Given the description of an element on the screen output the (x, y) to click on. 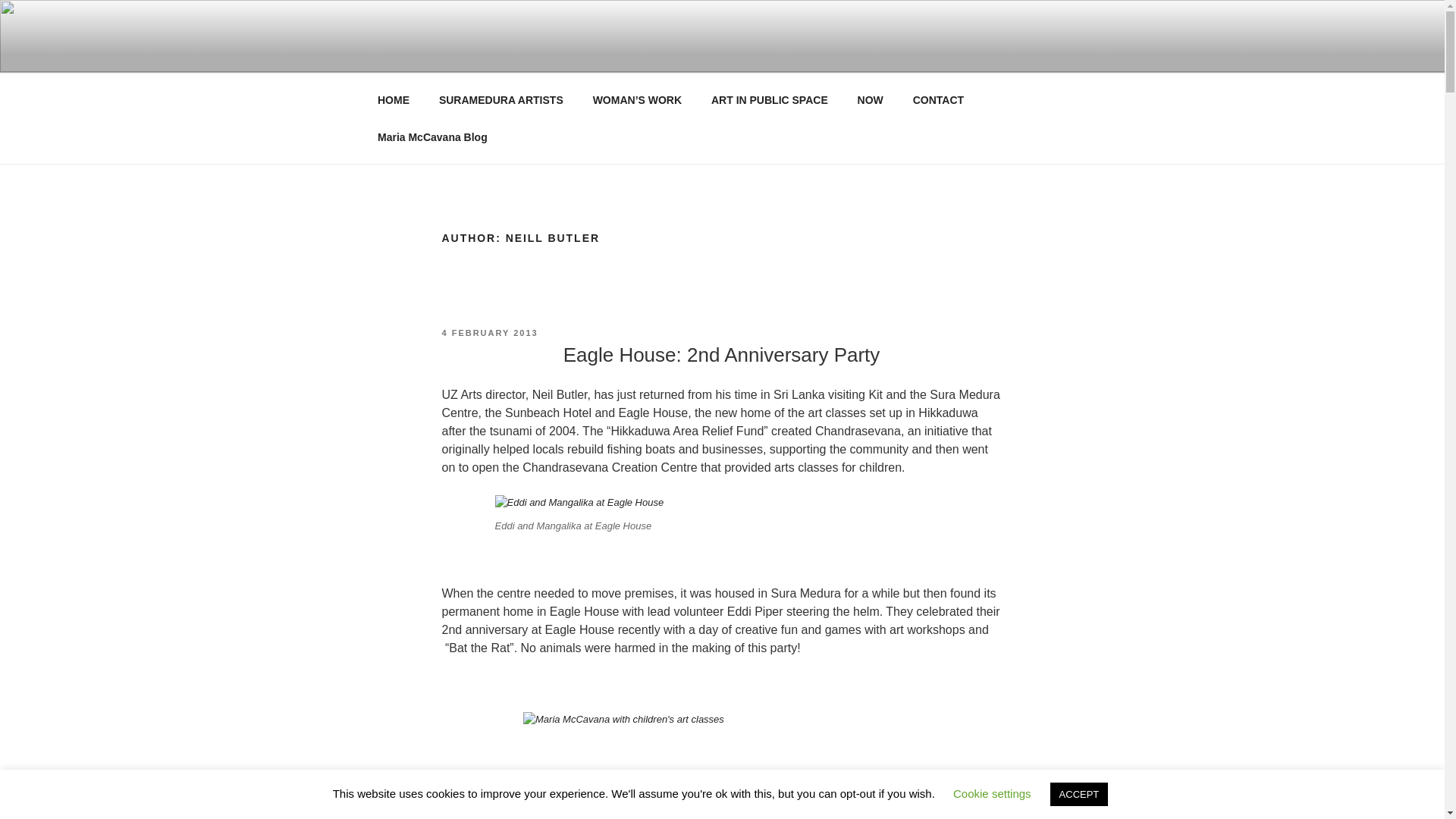
Cookie settings (991, 793)
Maria McCavana Blog (432, 136)
SURAMEDURA ARTISTS (500, 99)
CONTACT (937, 99)
ART IN PUBLIC SPACE (769, 99)
HOME (393, 99)
NOW (870, 99)
4 FEBRUARY 2013 (489, 332)
ACCEPT (1078, 793)
Eagle House: 2nd Anniversary Party (721, 354)
WRAPTHEWORLD (170, 52)
